Given the description of an element on the screen output the (x, y) to click on. 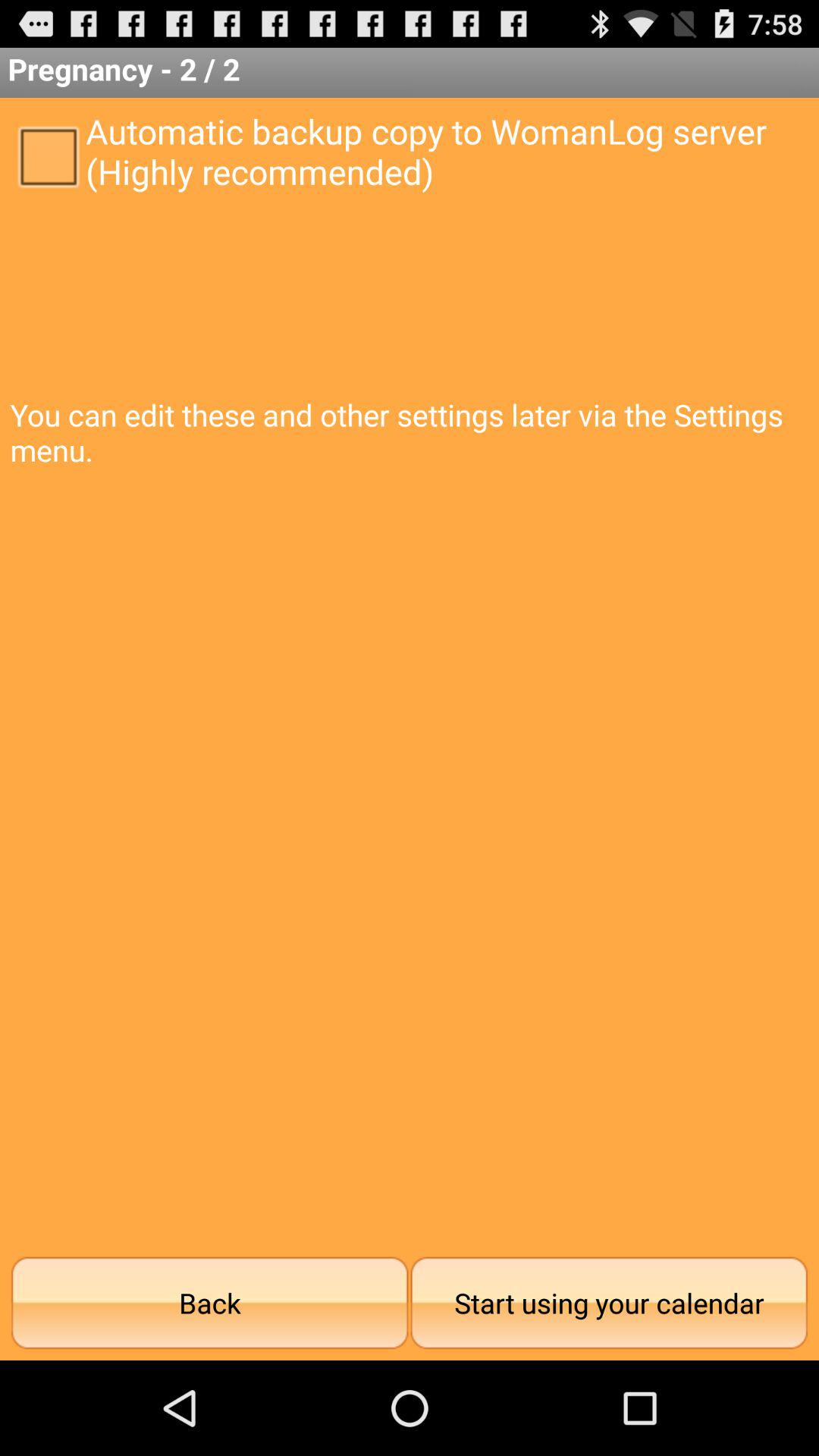
turn off the item below you can edit app (608, 1302)
